Given the description of an element on the screen output the (x, y) to click on. 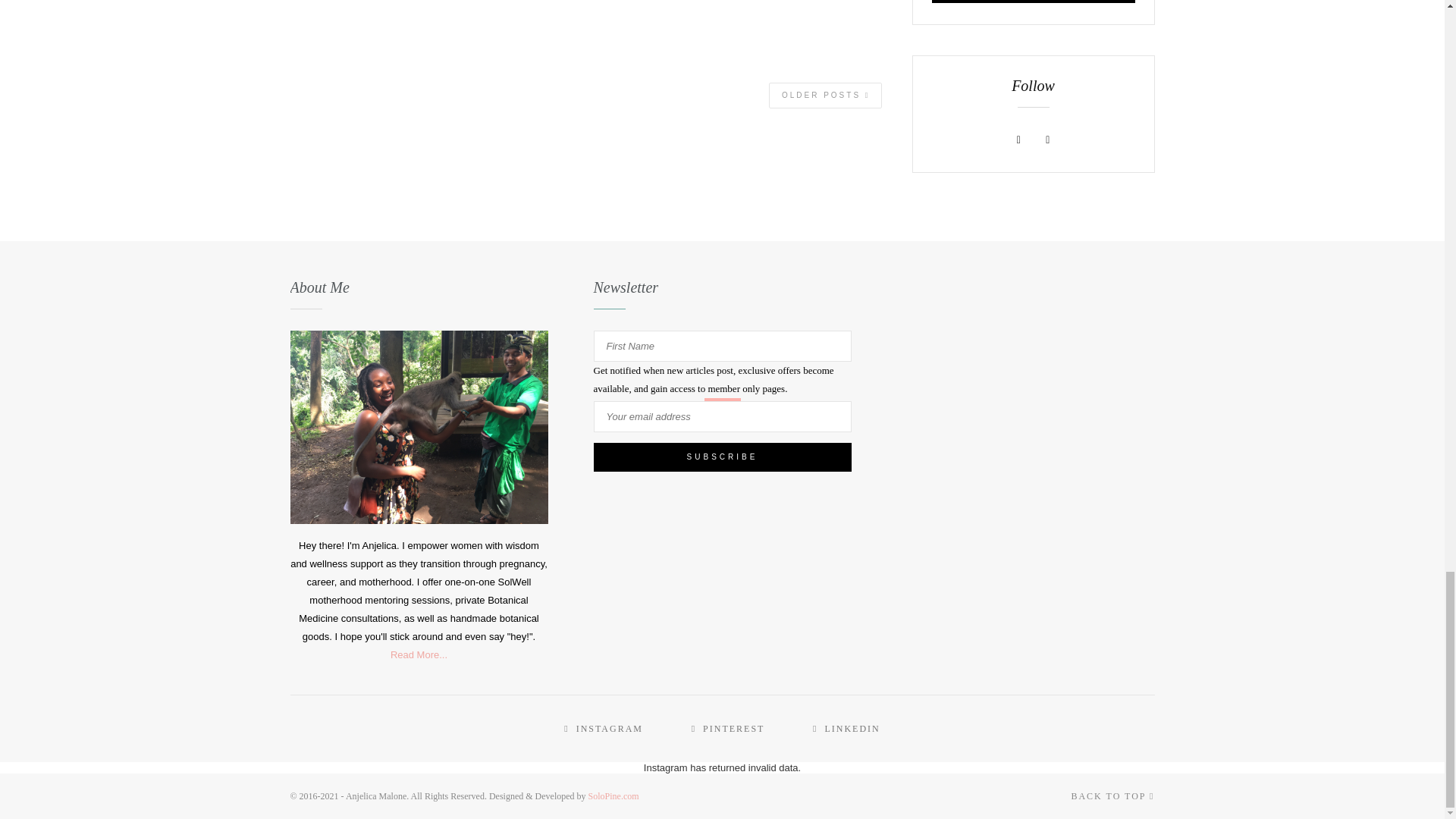
Subscribe (1032, 1)
Subscribe (721, 457)
